Given the description of an element on the screen output the (x, y) to click on. 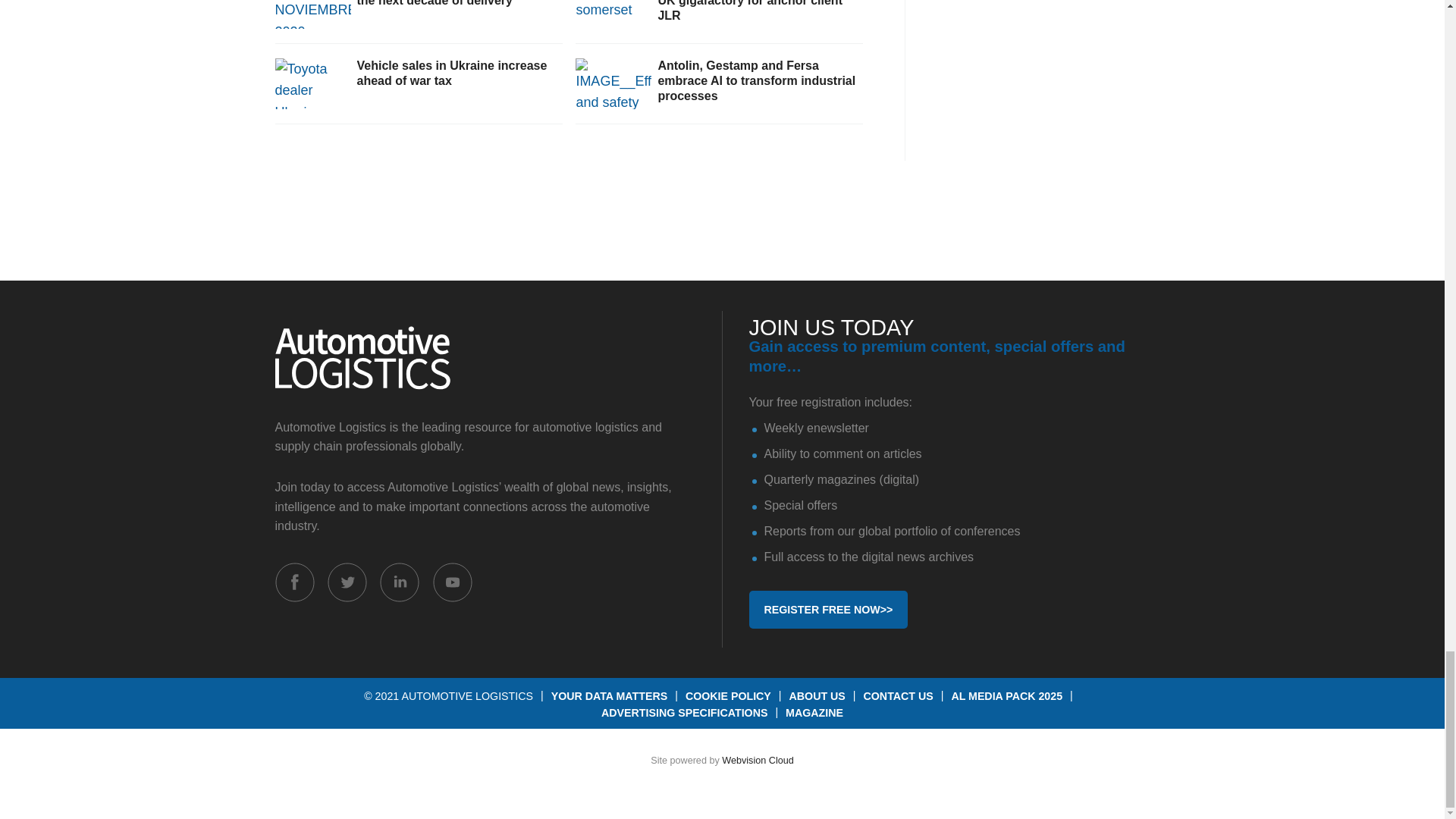
Connect with us on Facebook (294, 581)
Connect with us on Twitter (346, 581)
Connect with us on Linked In (399, 581)
Connect with us on Youtube (451, 581)
